Given the description of an element on the screen output the (x, y) to click on. 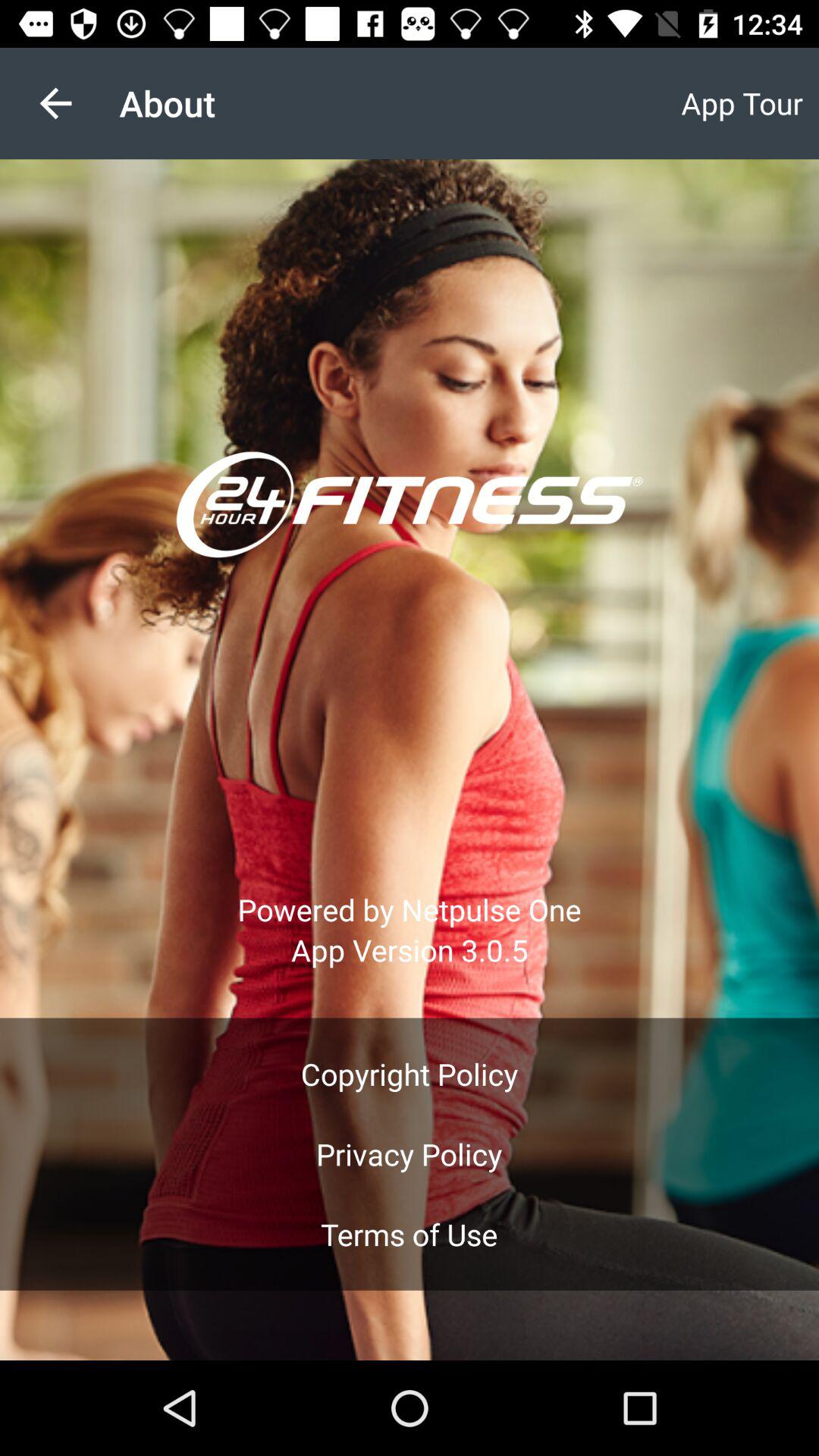
select the app to the right of the about icon (742, 103)
